Given the description of an element on the screen output the (x, y) to click on. 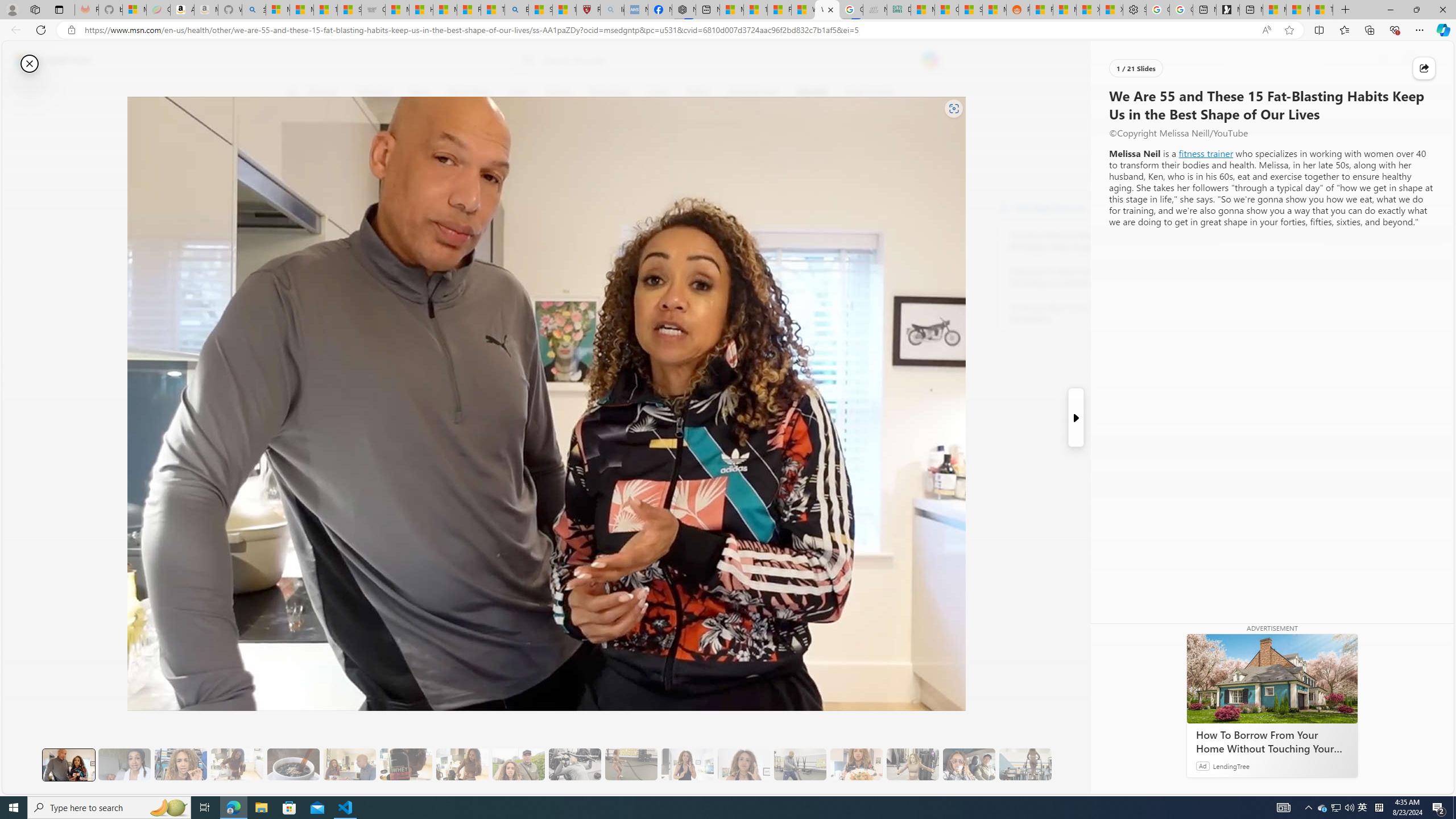
Class: at-item (299, 266)
2 They Use Protein Powder for Flavor (180, 764)
Body Network (1004, 207)
How To Borrow From Your Home Without Touching Your Mortgage (1271, 741)
14 Common Myths Debunked By Scientific Facts (754, 9)
15 They Also Indulge in a Low-Calorie Sweet Treat (912, 764)
13 Her Husband Does Group Cardio Classs (800, 764)
1 We Eat a Protein-Packed Pre-Workout Snack (124, 764)
8 Reasons to Drink Kombucha, According to a Nutritionist (1071, 277)
